Given the description of an element on the screen output the (x, y) to click on. 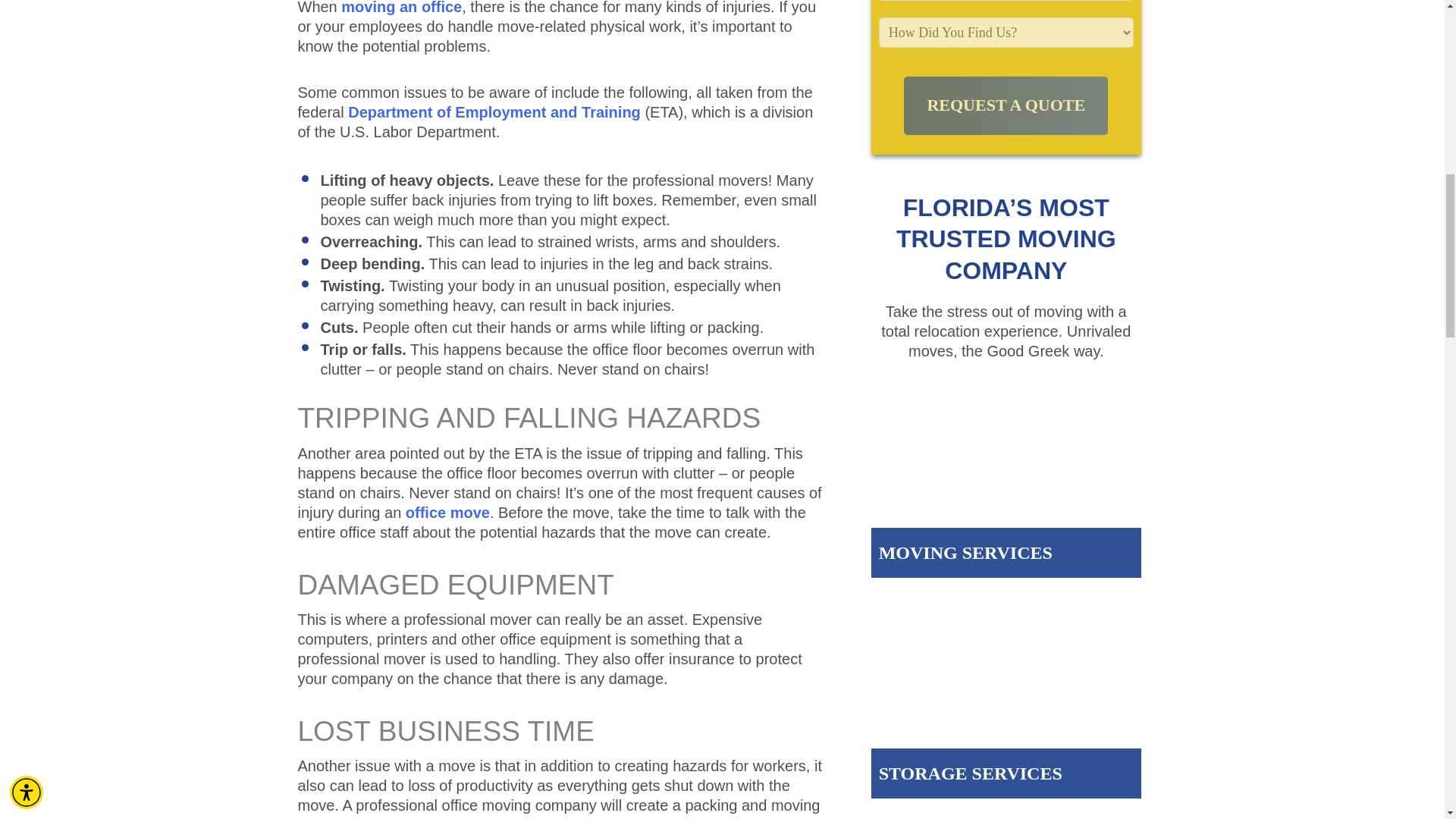
REQUEST A QUOTE (1006, 105)
